Given the description of an element on the screen output the (x, y) to click on. 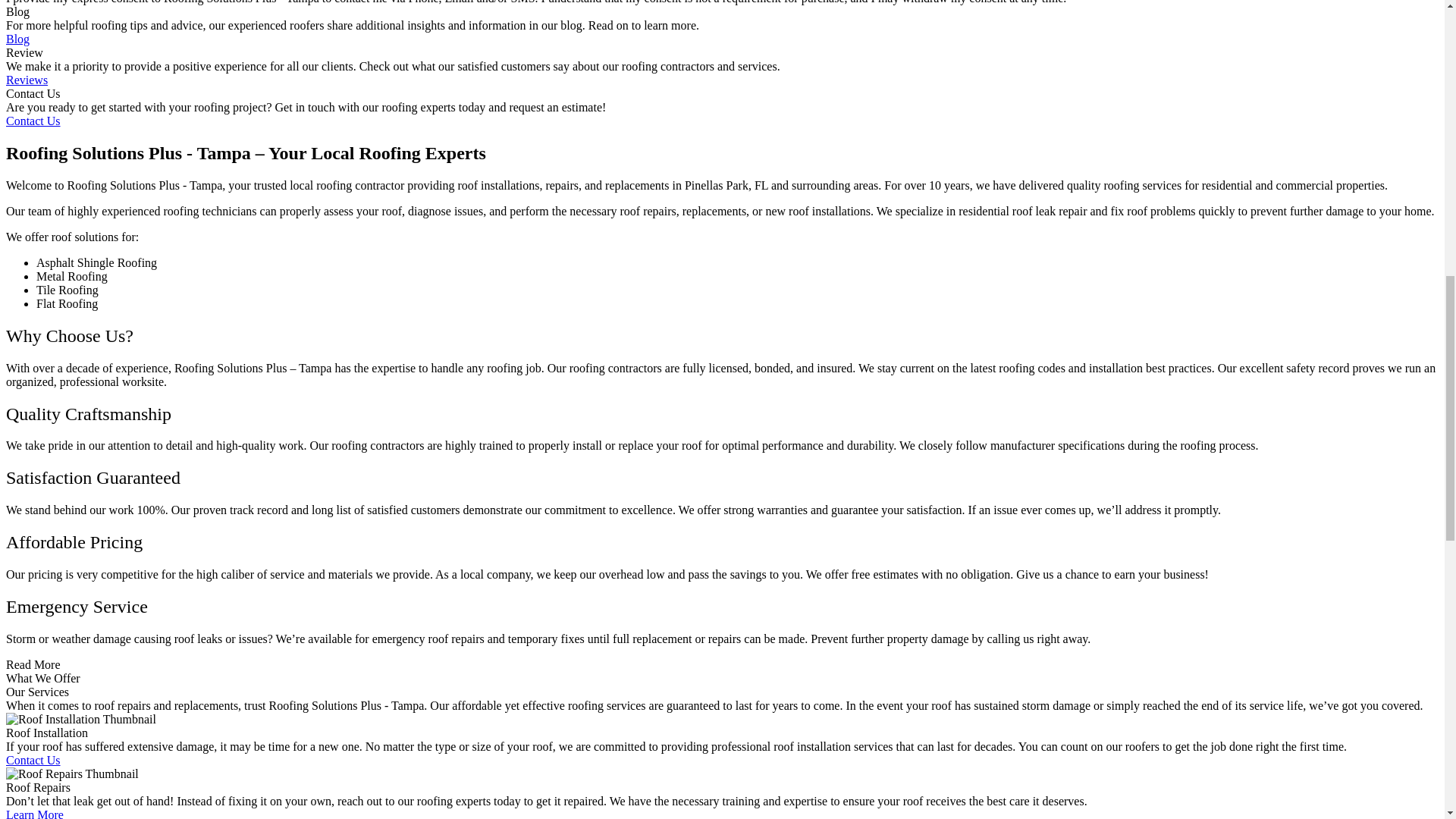
Roof Repairs Thumbnail (71, 774)
Contact Us (33, 120)
Blog (17, 38)
Read More (33, 664)
Learn More (34, 813)
Reviews (26, 79)
Contact Us (33, 759)
Roof Installation Thumbnail (80, 719)
